Given the description of an element on the screen output the (x, y) to click on. 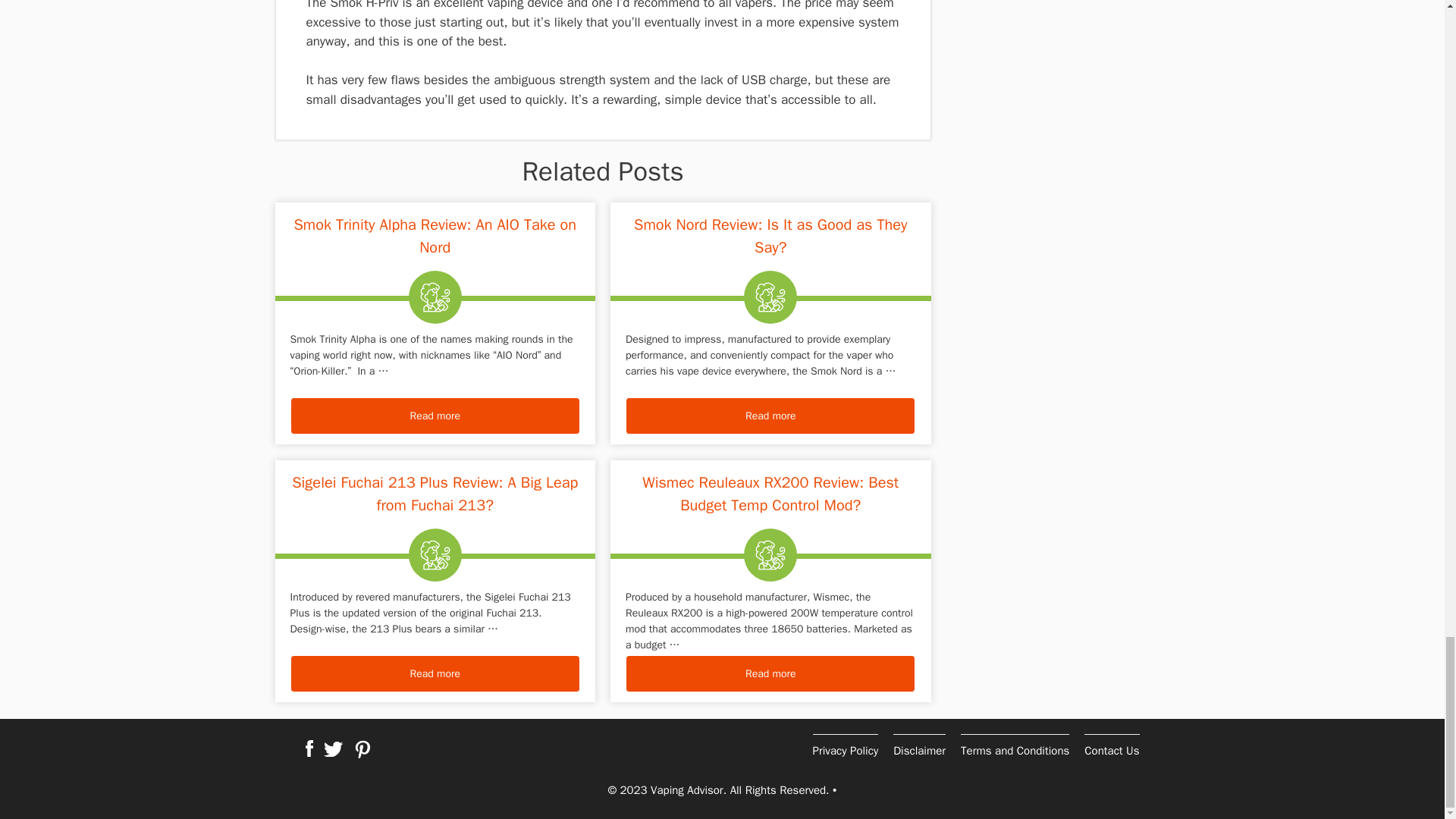
Smok Nord Review: Is It as Good as They Say? (770, 236)
Smok Nord Review: Is It as Good as They Say? (770, 416)
Smok Trinity Alpha Review: An AIO Take on Nord (435, 236)
Sigelei Fuchai 213 Plus Review: A Big Leap from Fuchai 213? (435, 673)
Read more (435, 416)
Smok Trinity Alpha Review: An AIO Take on Nord (435, 416)
Wismec Reuleaux RX200 Review: Best Budget Temp Control Mod? (770, 673)
